Given the description of an element on the screen output the (x, y) to click on. 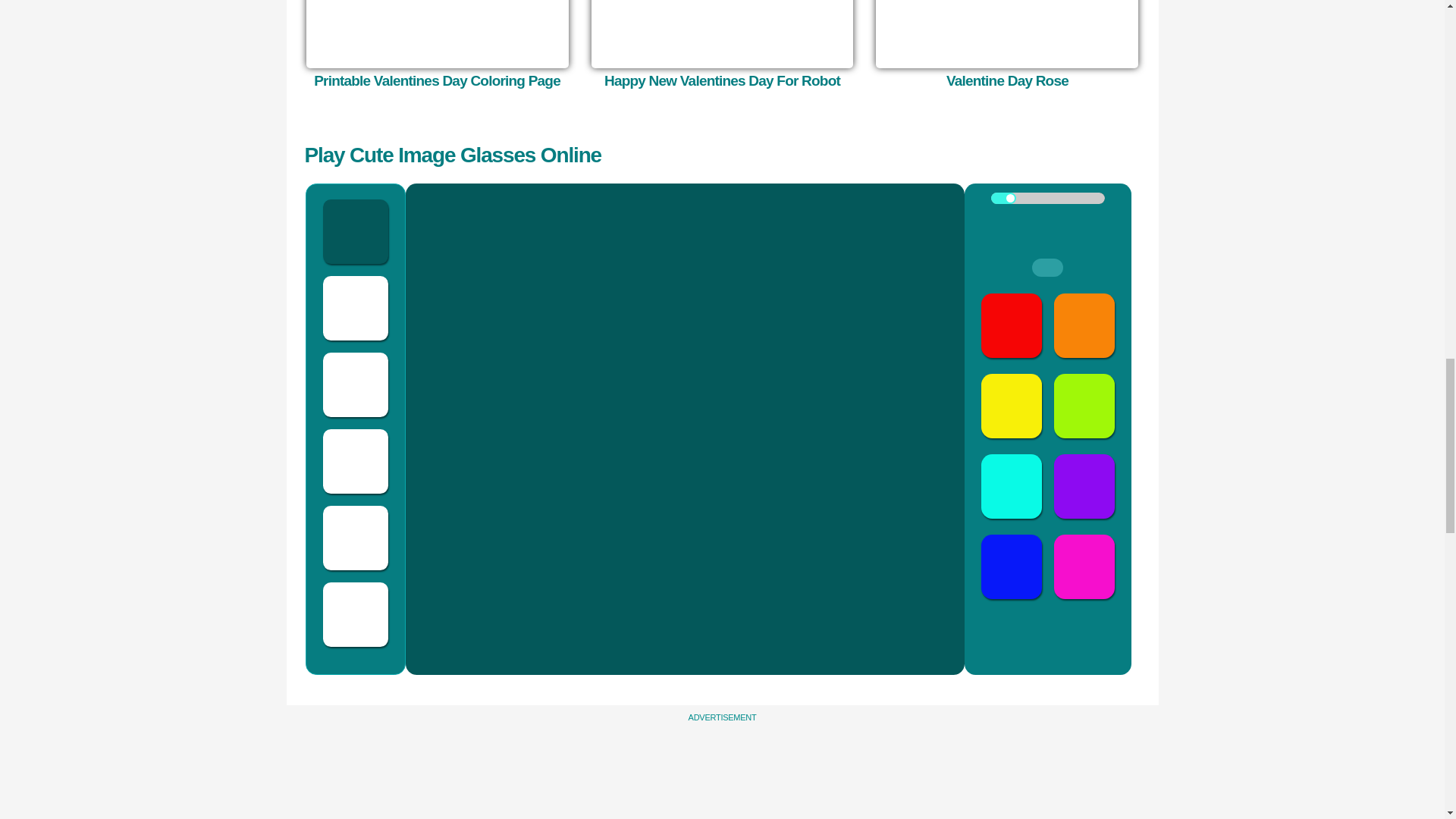
Printable Valentines Day Coloring Page (437, 80)
5 (1046, 197)
Printable Valentines Day Coloring Page (437, 33)
